Given the description of an element on the screen output the (x, y) to click on. 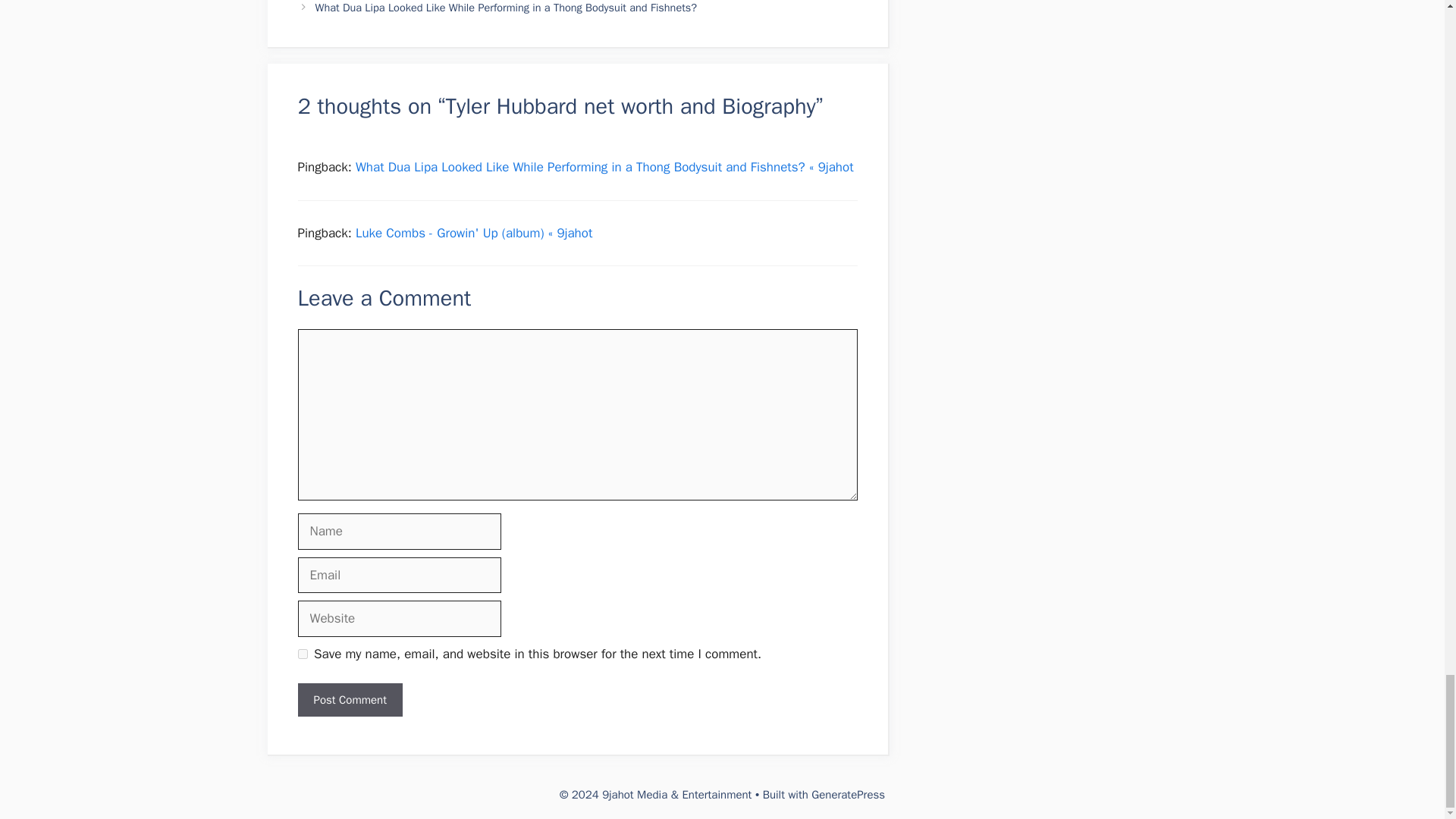
Post Comment (349, 700)
Post Comment (349, 700)
yes (302, 654)
